Given the description of an element on the screen output the (x, y) to click on. 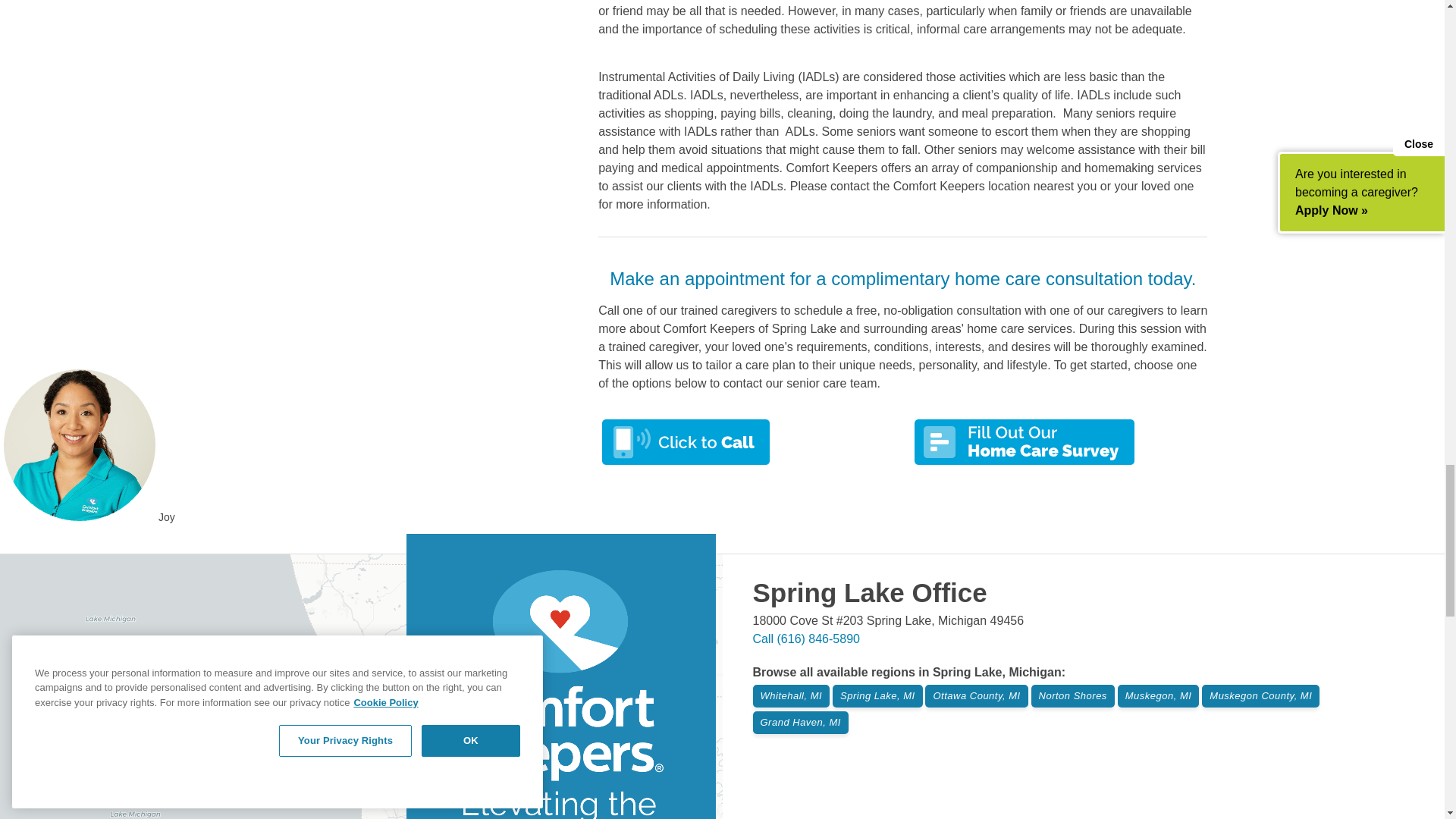
Call Us (805, 638)
